Given the description of an element on the screen output the (x, y) to click on. 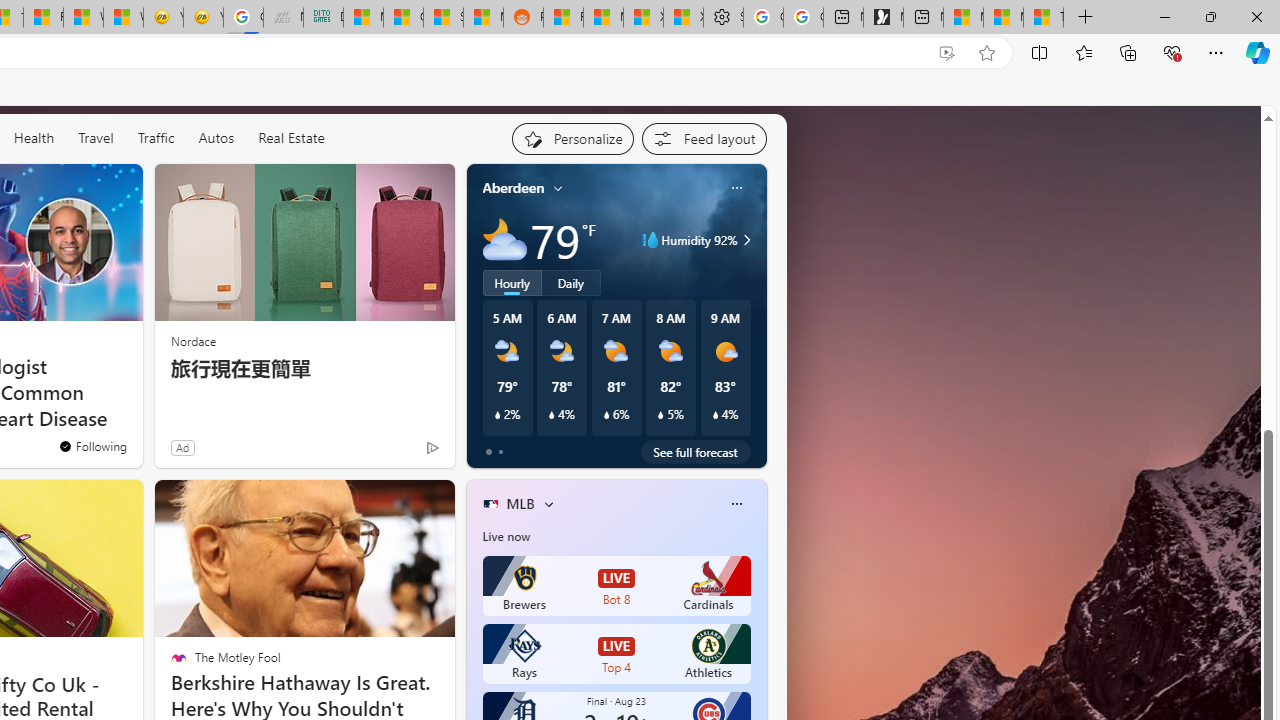
New tab (923, 17)
Health (34, 137)
Fitness - MSN (43, 17)
Autos (216, 138)
More options (736, 503)
R******* | Trusted Community Engagement and Contributions (563, 17)
MSN (483, 17)
Stocks - MSN (443, 17)
Mostly cloudy (504, 240)
Microsoft Start Gaming (883, 17)
See full forecast (695, 451)
Daily (571, 282)
